Given the description of an element on the screen output the (x, y) to click on. 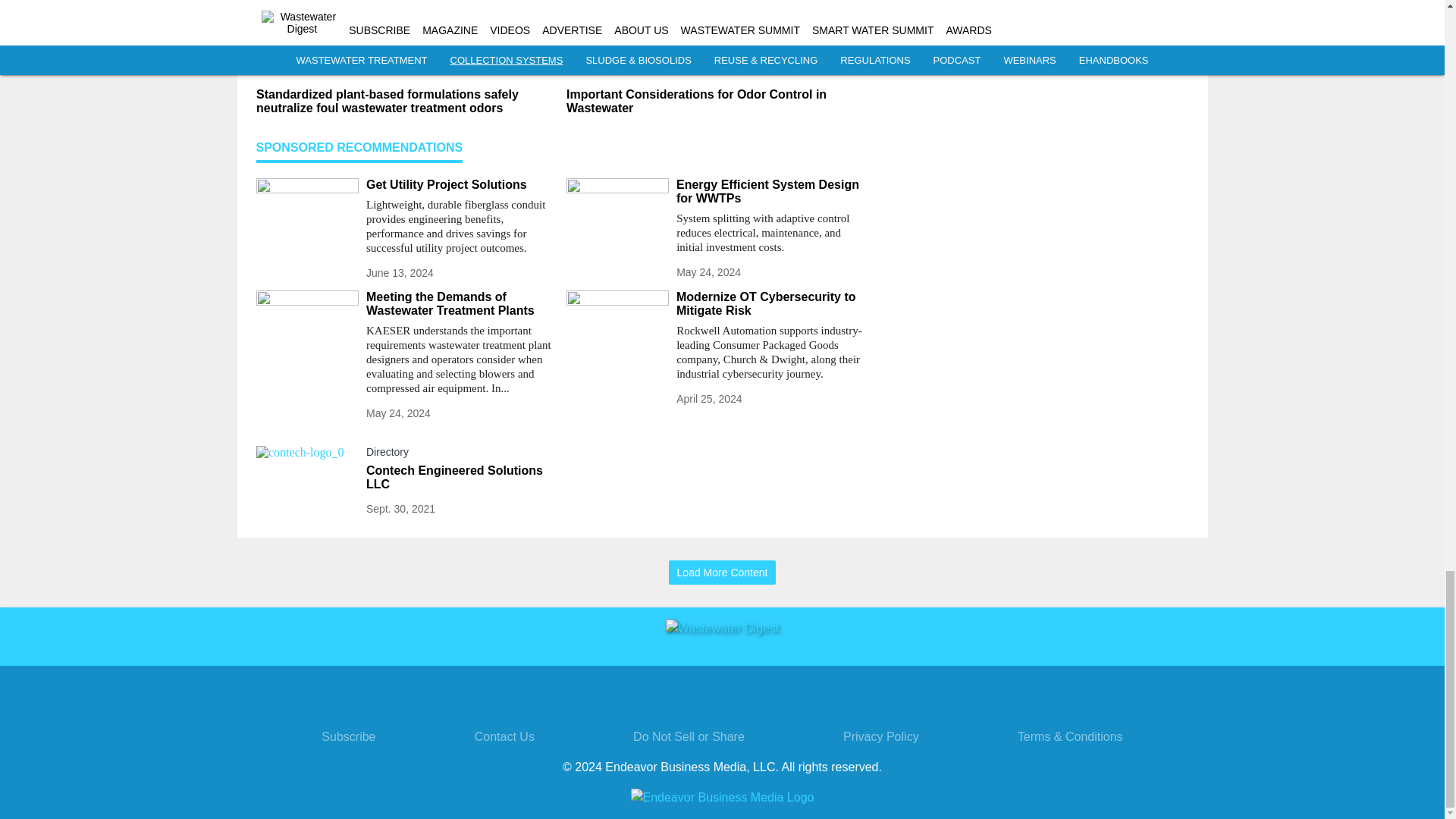
Energy Efficient System Design for WWTPs (770, 191)
Meeting the Demands of Wastewater Treatment Plants (459, 303)
Important Considerations for Odor Control in Wastewater (715, 101)
Get Utility Project Solutions (459, 184)
